Given the description of an element on the screen output the (x, y) to click on. 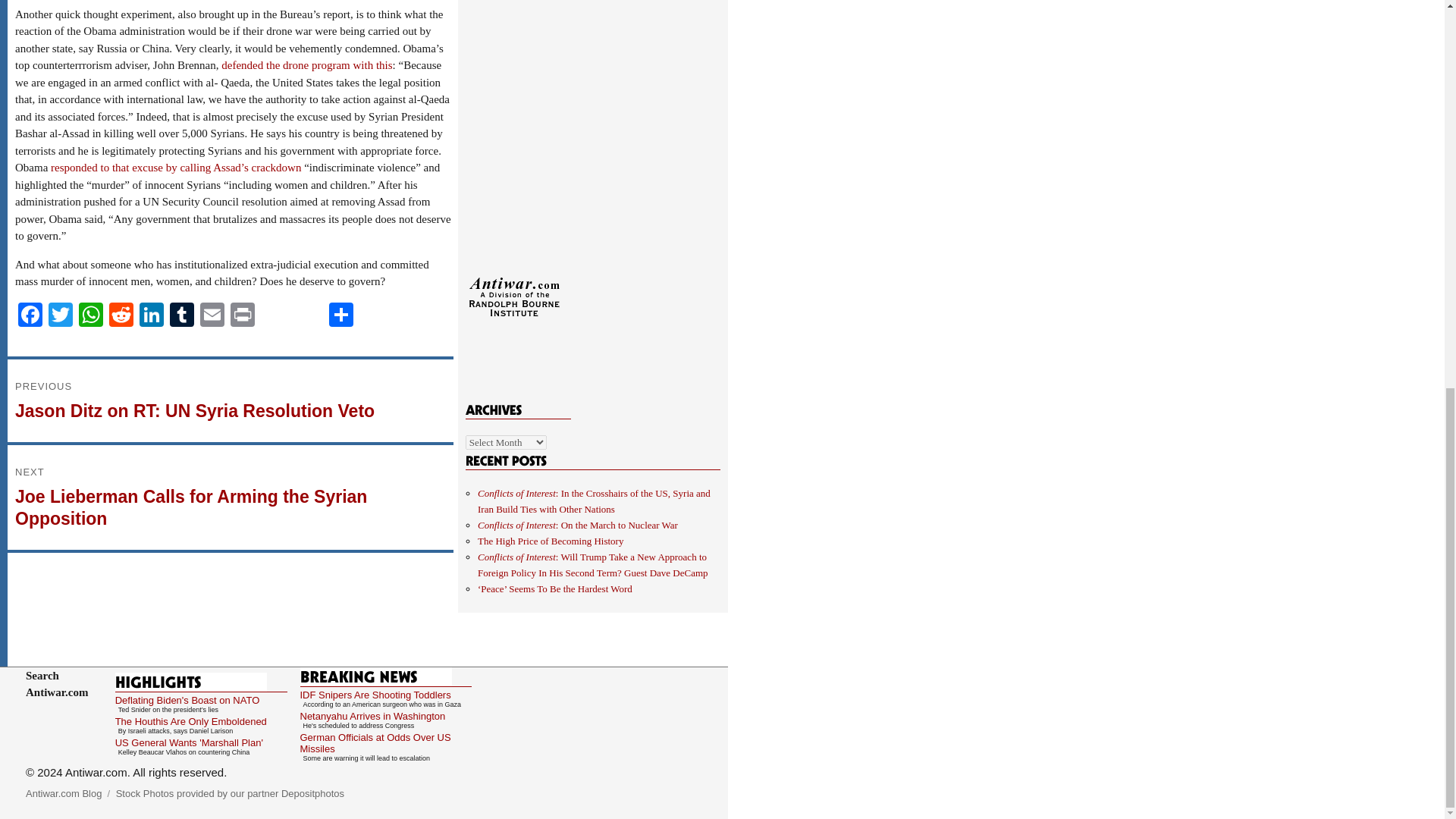
defended the drone program with this (306, 64)
Facebook (29, 316)
Reddit (121, 316)
WhatsApp (90, 316)
Reddit (121, 316)
WhatsApp (90, 316)
Email (211, 316)
LinkedIn (151, 316)
Email (211, 316)
Twitter (60, 316)
Tumblr (181, 316)
Facebook (29, 316)
LinkedIn (151, 316)
Print (242, 316)
Twitter (60, 316)
